Given the description of an element on the screen output the (x, y) to click on. 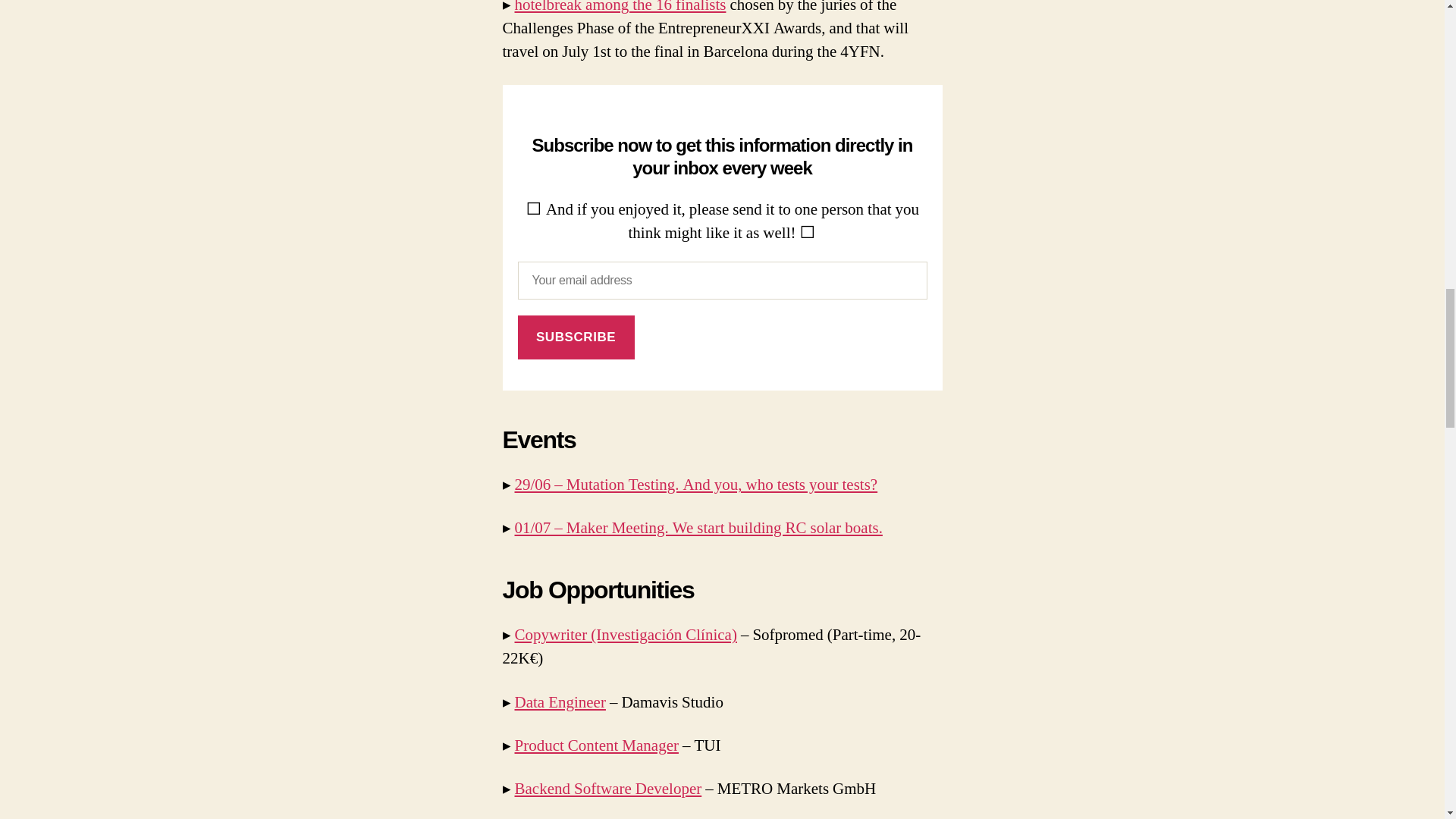
subscribe (574, 337)
hotelbreak among the 16 finalists (619, 7)
subscribe (574, 337)
Product Content Manager (595, 745)
Data Engineer (559, 702)
Backend Software Developer (607, 788)
